Given the description of an element on the screen output the (x, y) to click on. 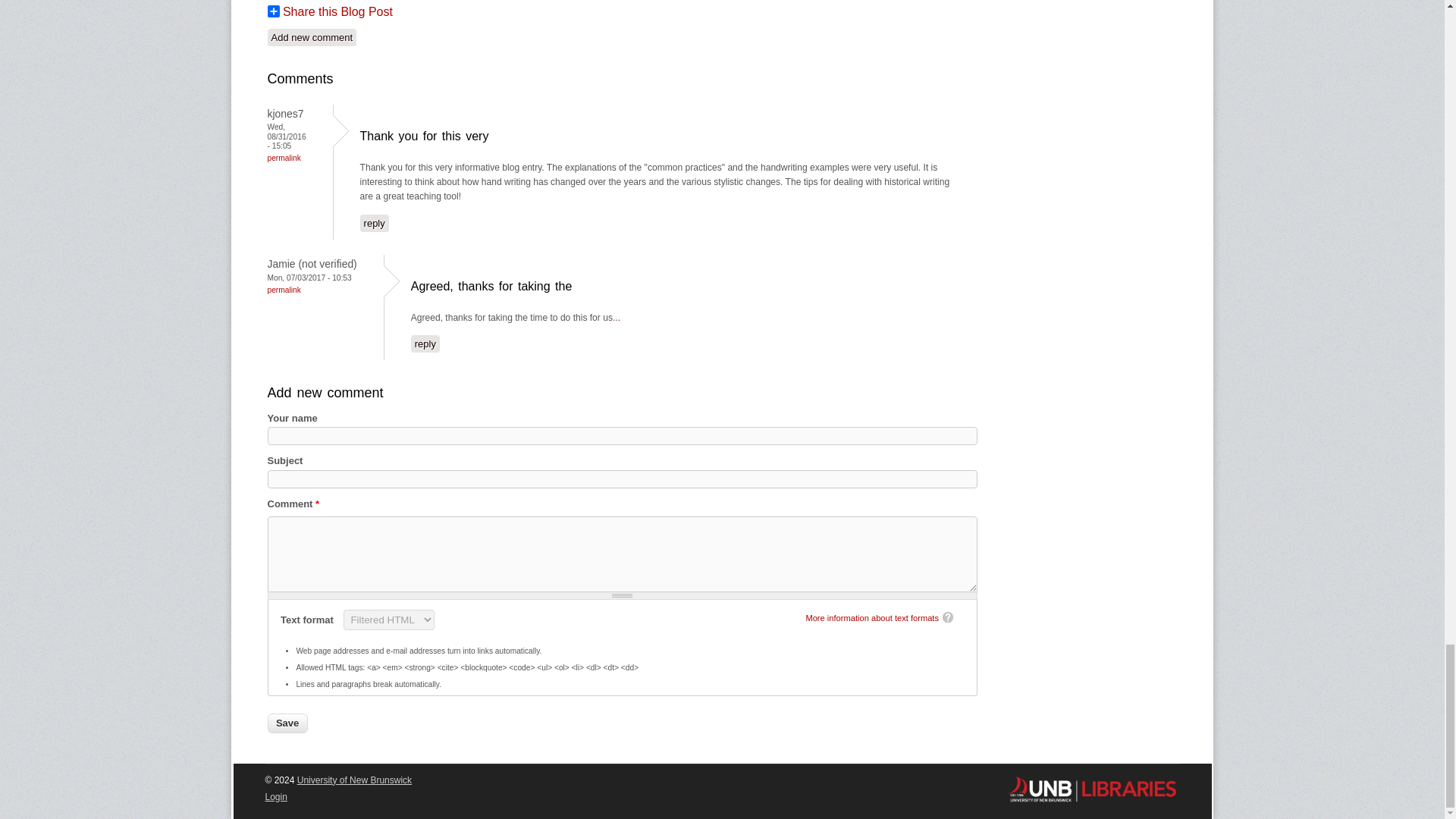
Share your thoughts and opinions related to this posting. (311, 36)
Add new comment (311, 36)
More information about text formats (871, 616)
Agreed, thanks for taking the (491, 286)
Save (286, 723)
permalink (282, 289)
reply (424, 343)
Save (286, 723)
Share this Blog Post (328, 11)
Thank you for this very (424, 135)
reply (373, 222)
permalink (282, 157)
